Given the description of an element on the screen output the (x, y) to click on. 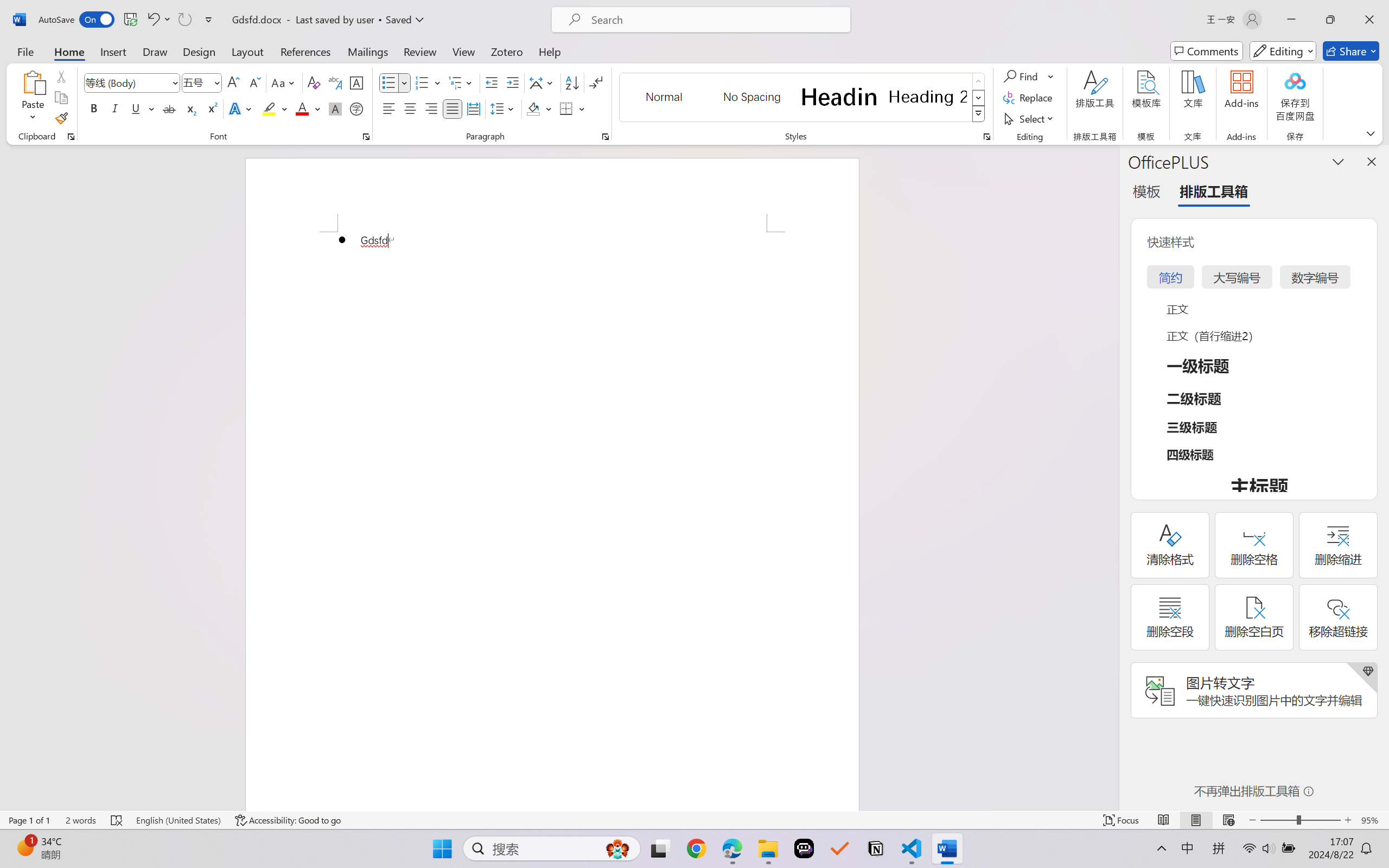
Undo Bullet Default (158, 19)
